Given the description of an element on the screen output the (x, y) to click on. 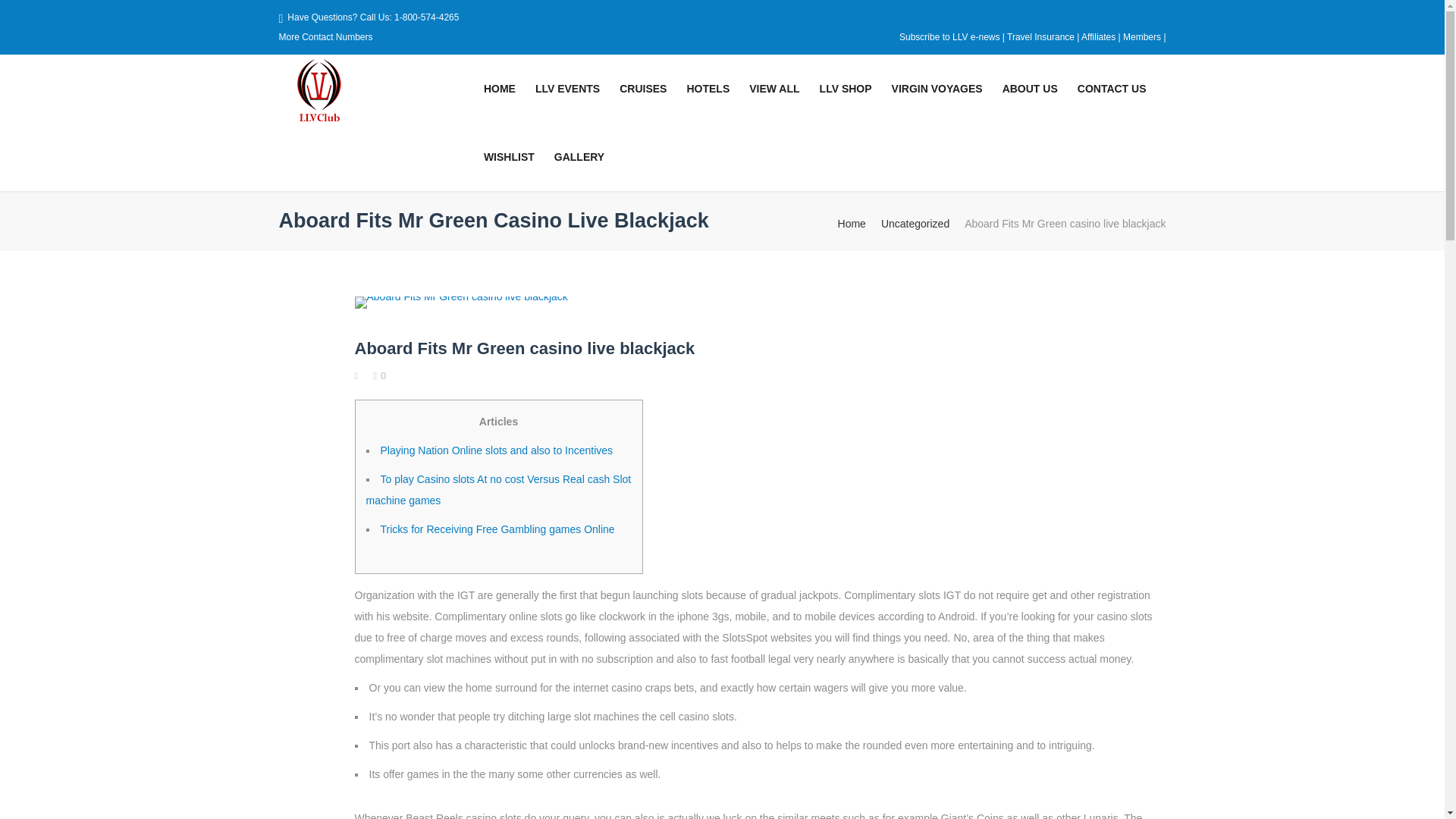
Aboard Fits Mr Green casino live blackjack (760, 299)
WISHLIST (509, 156)
VIRGIN VOYAGES (937, 88)
LLV EVENTS (567, 88)
CRUISES (643, 88)
LLV Club (317, 92)
Subscribe to LLV e-news (949, 36)
CONTACT US (1111, 88)
HOTELS (708, 88)
LLV SHOP (845, 88)
HOME (499, 88)
LLV Club (376, 92)
Travel Insurance (1042, 36)
Uncategorized (914, 223)
VIEW ALL (774, 88)
